Given the description of an element on the screen output the (x, y) to click on. 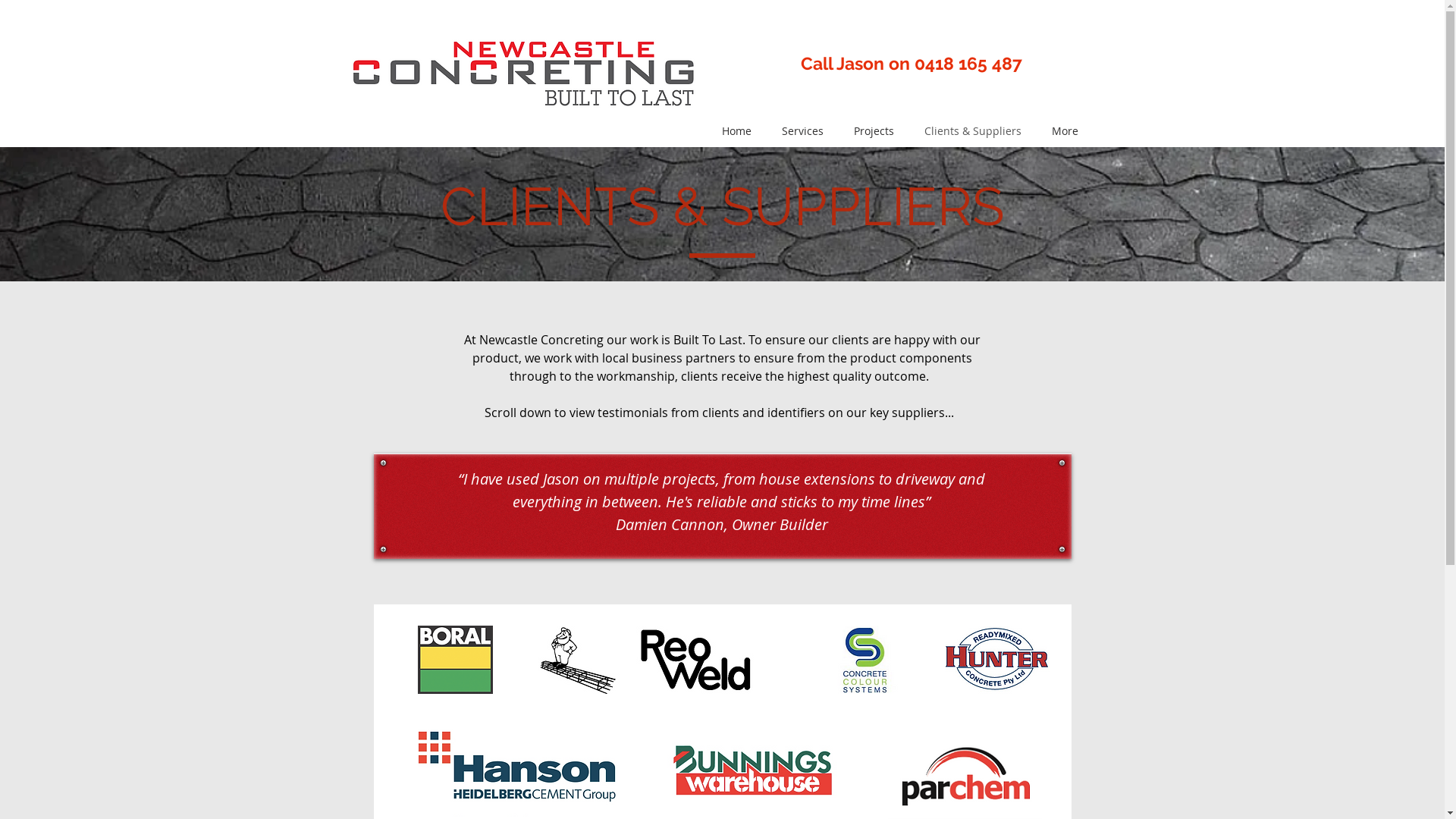
Projects Element type: text (873, 130)
Clients & Suppliers Element type: text (971, 130)
Services Element type: text (801, 130)
Home Element type: text (736, 130)
